Given the description of an element on the screen output the (x, y) to click on. 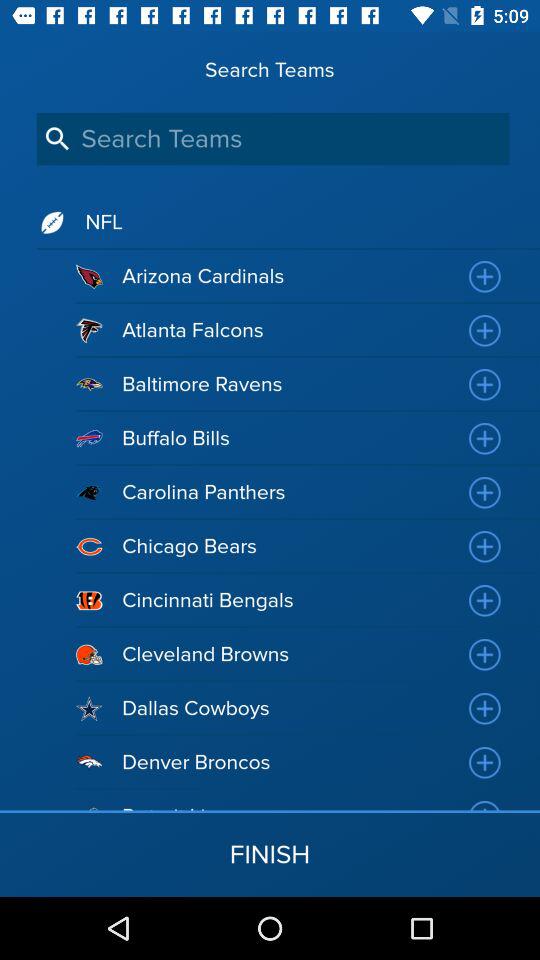
select the icon below search teams icon (272, 138)
